Given the description of an element on the screen output the (x, y) to click on. 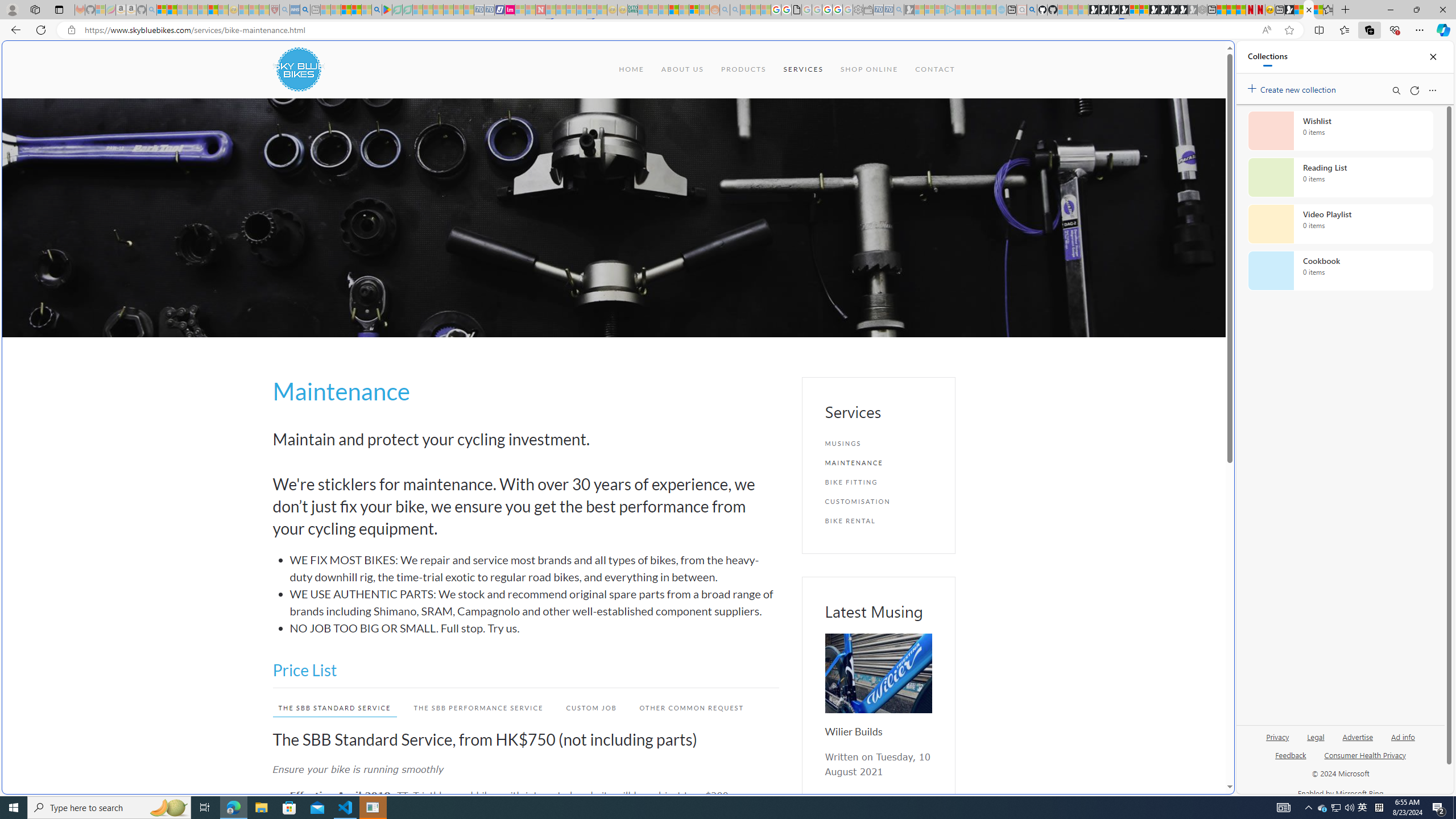
Microsoft Start - Sleeping (980, 9)
Favorites (1327, 9)
Minimize (1390, 9)
Advertise (1357, 736)
Trusted Community Engagement and Contributions | Guidelines (550, 9)
Microsoft-Report a Concern to Bing - Sleeping (100, 9)
World - MSN (727, 389)
